Given the description of an element on the screen output the (x, y) to click on. 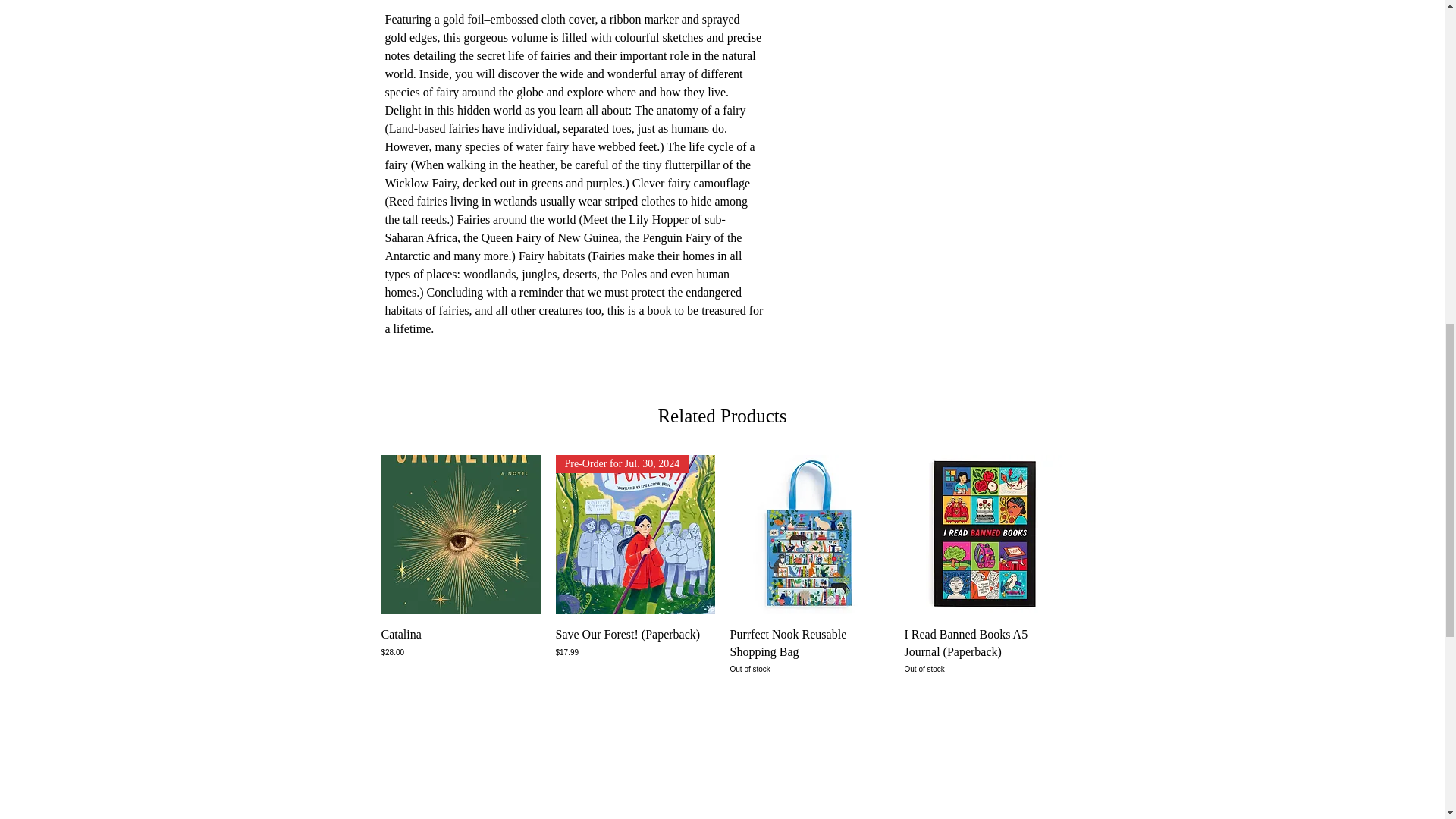
Pre-Order for Jul. 30, 2024 (634, 534)
